Given the description of an element on the screen output the (x, y) to click on. 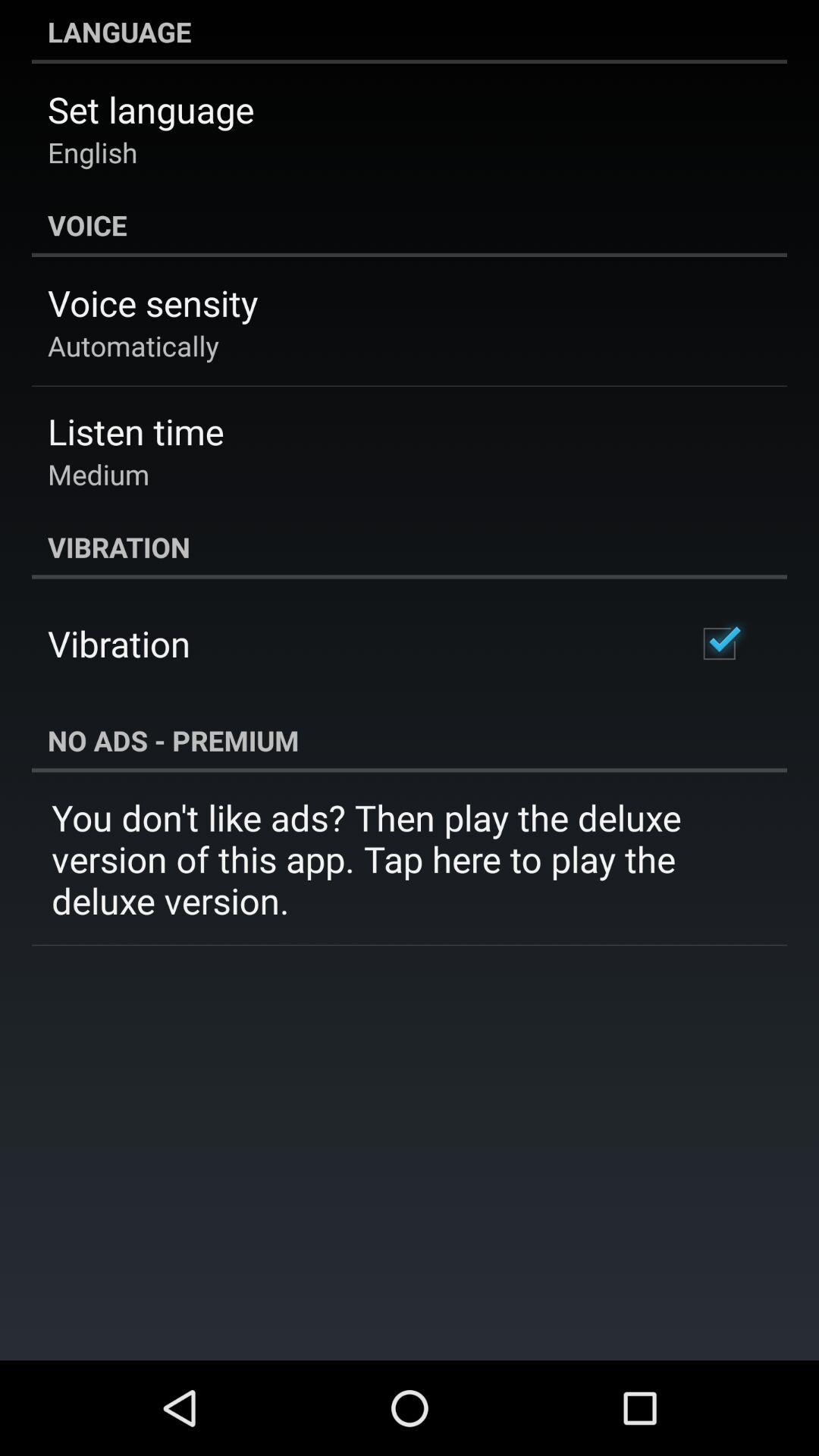
turn off icon below the automatically app (135, 431)
